Given the description of an element on the screen output the (x, y) to click on. 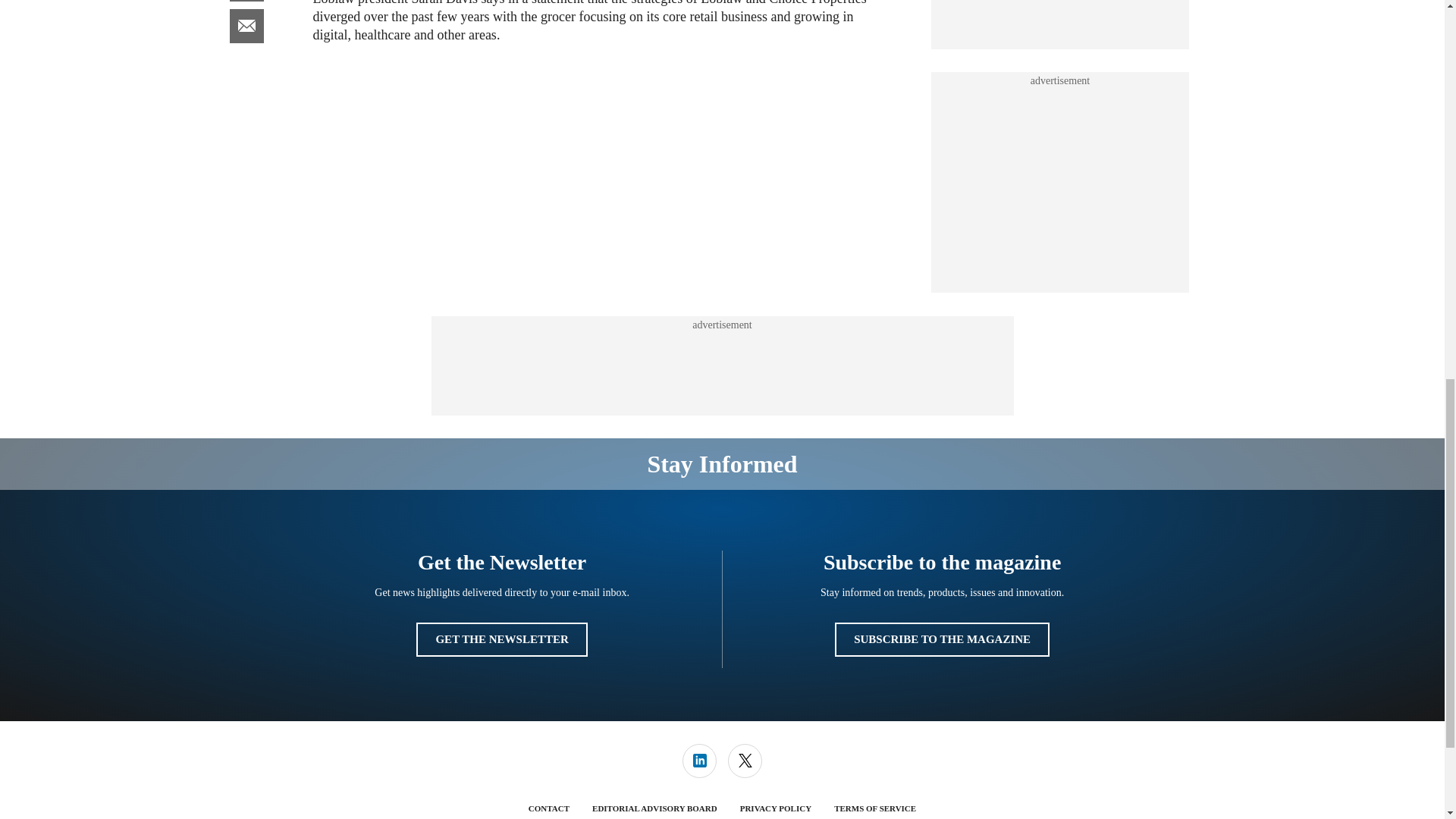
3rd party ad content (1059, 182)
3rd party ad content (721, 366)
3rd party ad content (1059, 17)
